Given the description of an element on the screen output the (x, y) to click on. 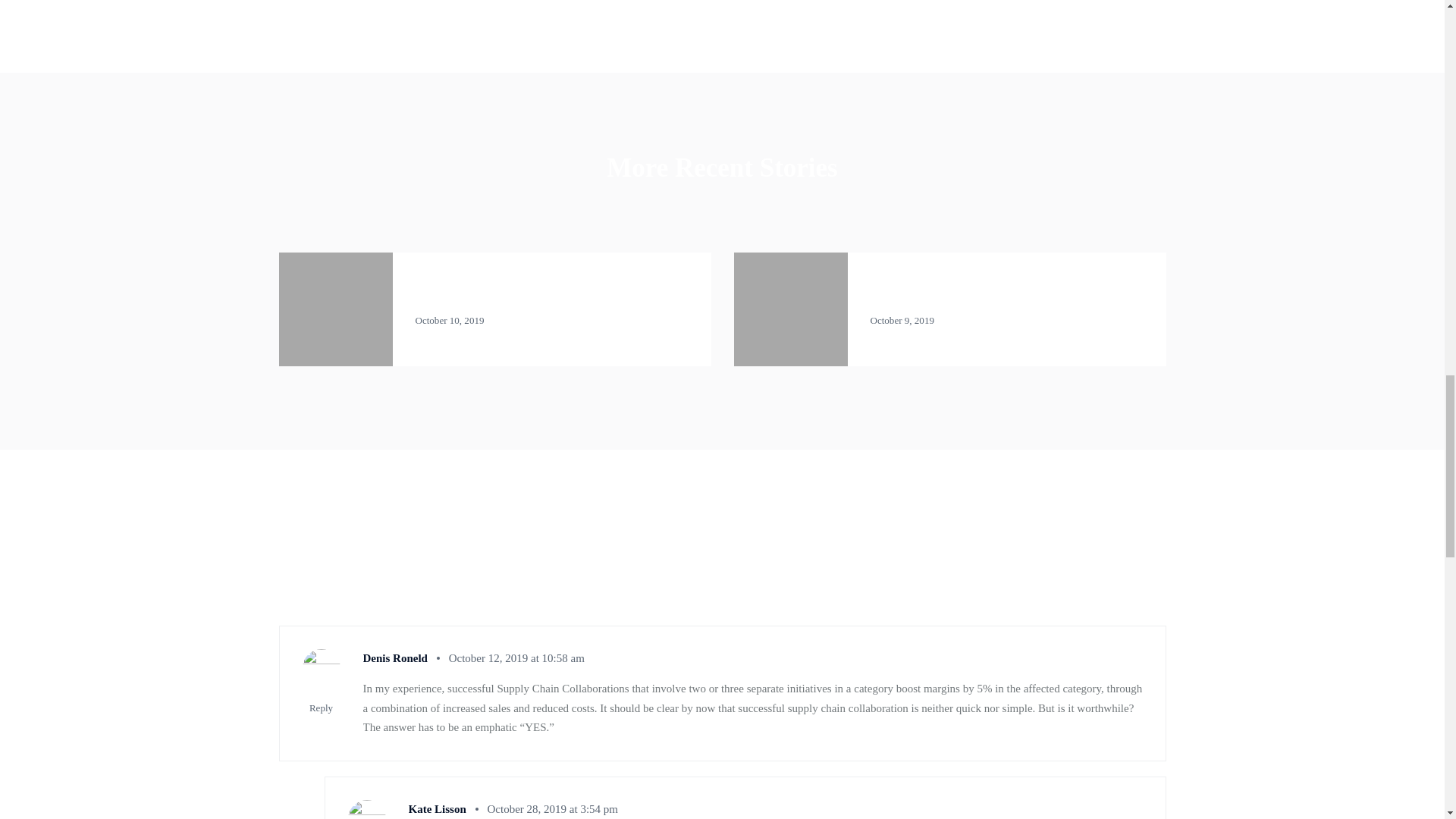
October 9, 2019 (902, 319)
Reply (320, 707)
Food and Beverage in Store Delivery (977, 296)
October 10, 2019 (449, 319)
October 12, 2019 at 10:58 am (511, 657)
A National Wholesale Distributor (512, 296)
October 28, 2019 at 3:54 pm (552, 808)
October 12, 2019 at 10:58 am (516, 657)
